Given the description of an element on the screen output the (x, y) to click on. 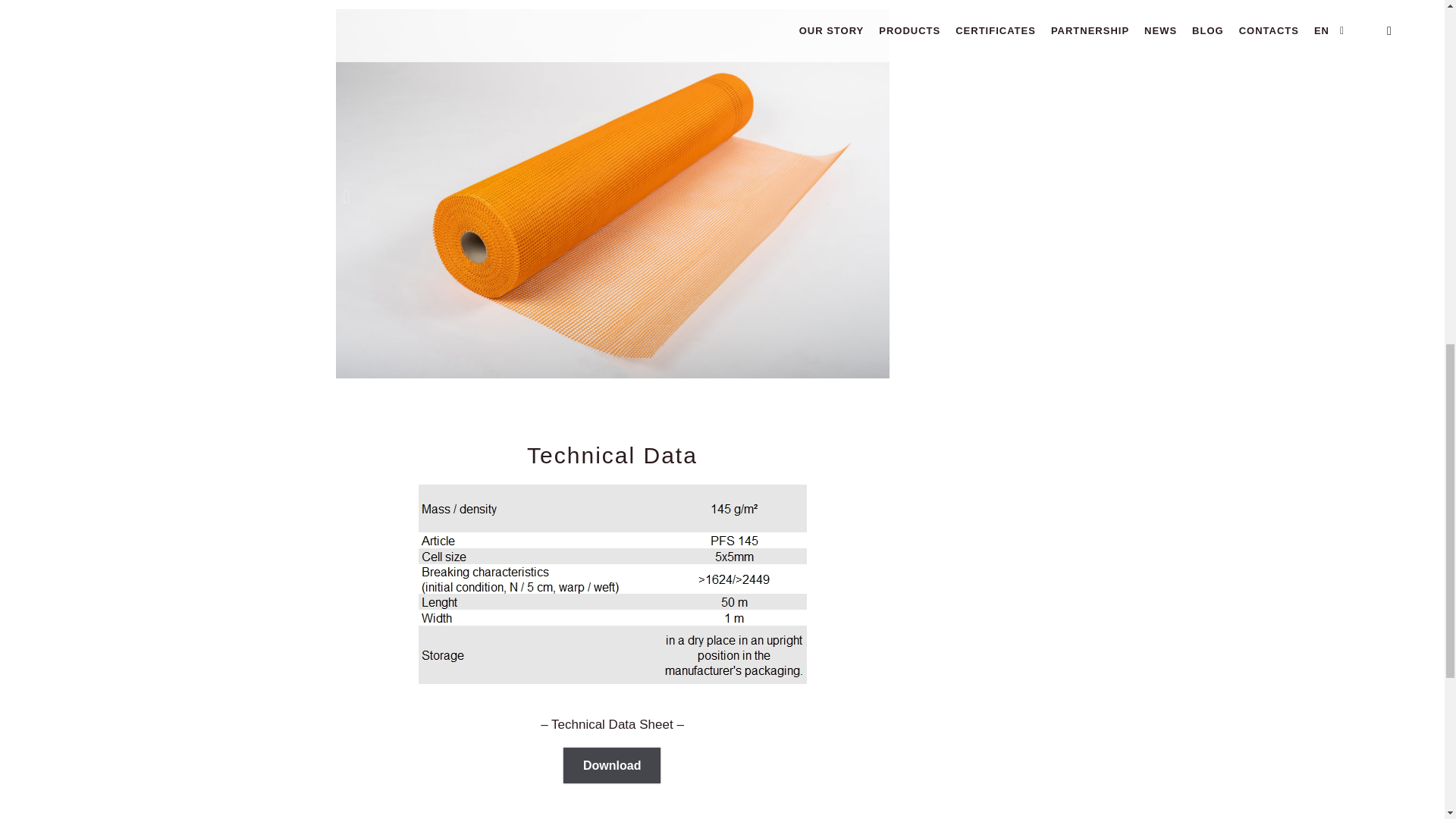
Download (612, 764)
